Given the description of an element on the screen output the (x, y) to click on. 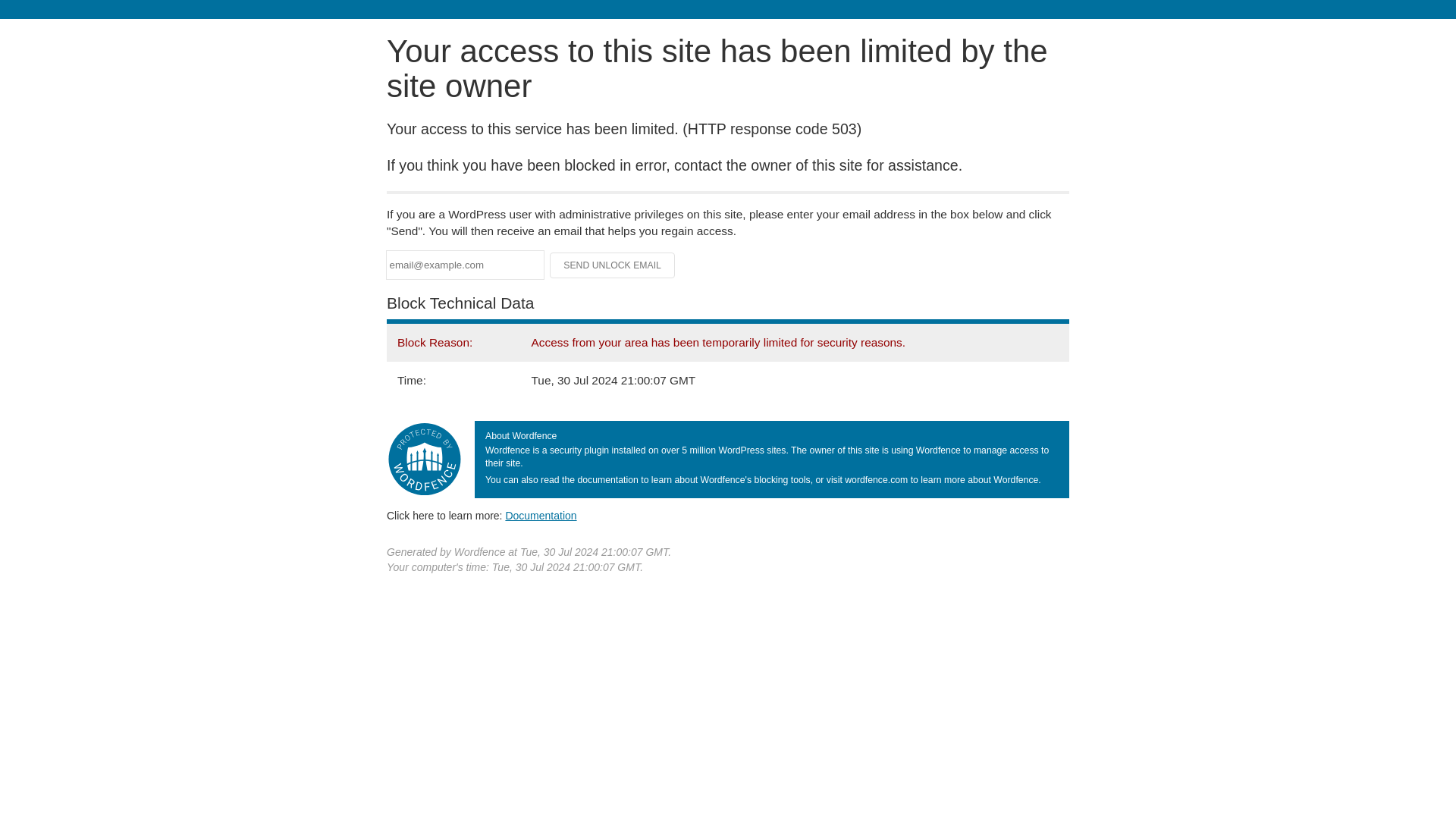
Documentation (540, 515)
Send Unlock Email (612, 265)
Send Unlock Email (612, 265)
